Given the description of an element on the screen output the (x, y) to click on. 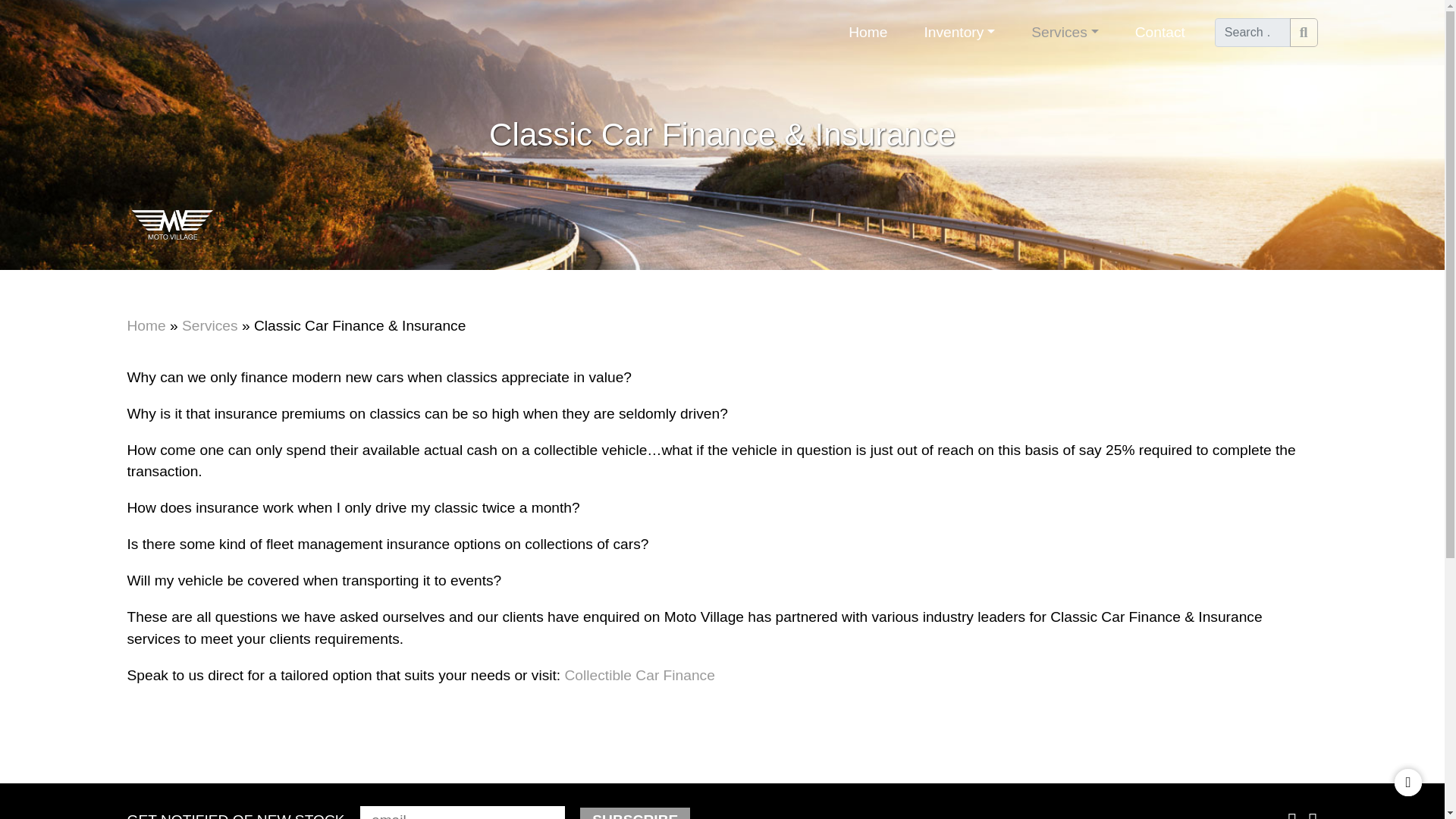
Contact (1160, 32)
Subscribe (634, 813)
Collectible Car Finance (639, 675)
Services (210, 325)
Home (867, 32)
Home (146, 325)
Inventory (959, 32)
Services (1064, 32)
Subscribe (634, 813)
